Given the description of an element on the screen output the (x, y) to click on. 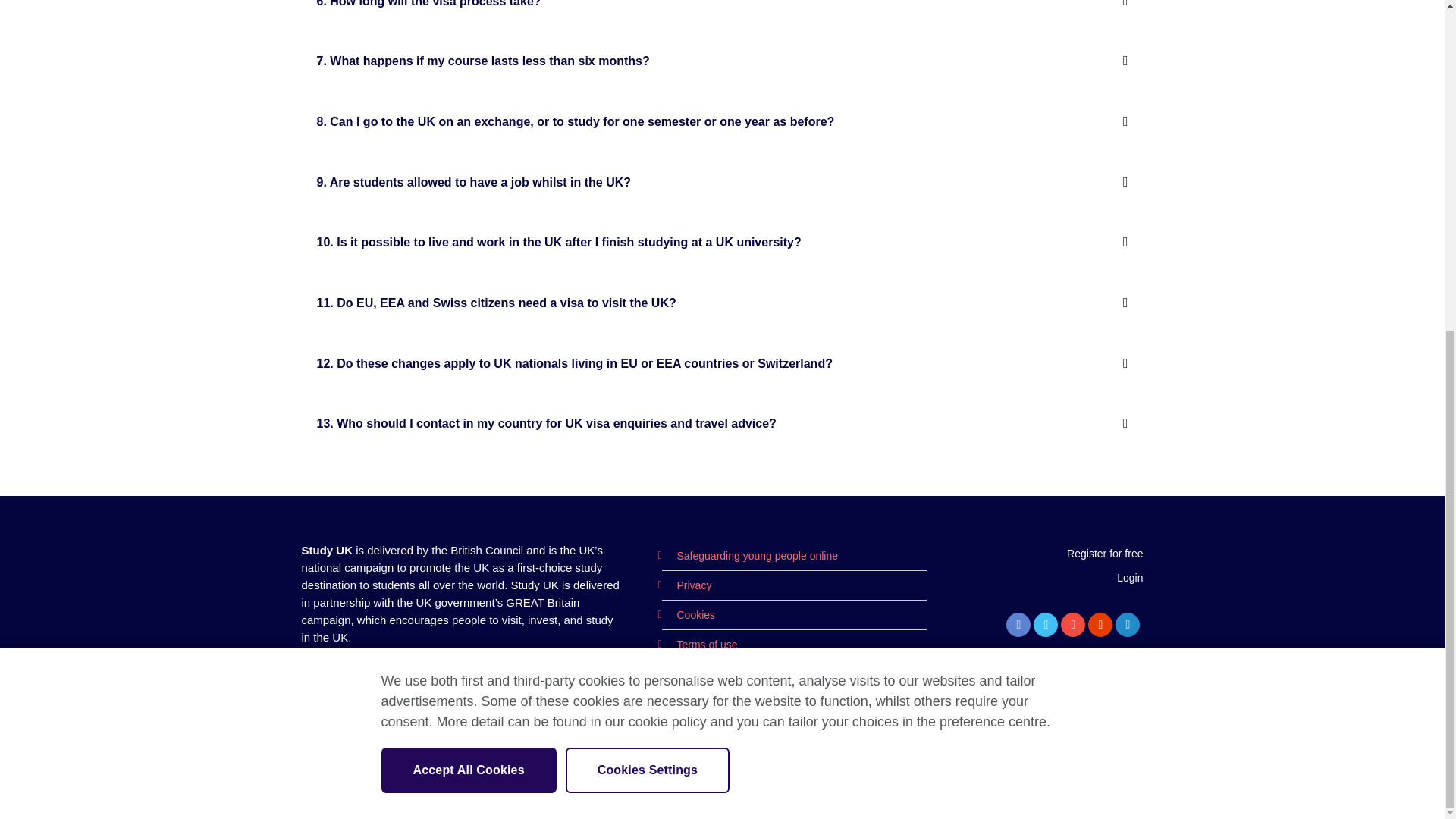
Cookies (687, 614)
Privacy (686, 585)
Safeguarding young people online (749, 555)
